Given the description of an element on the screen output the (x, y) to click on. 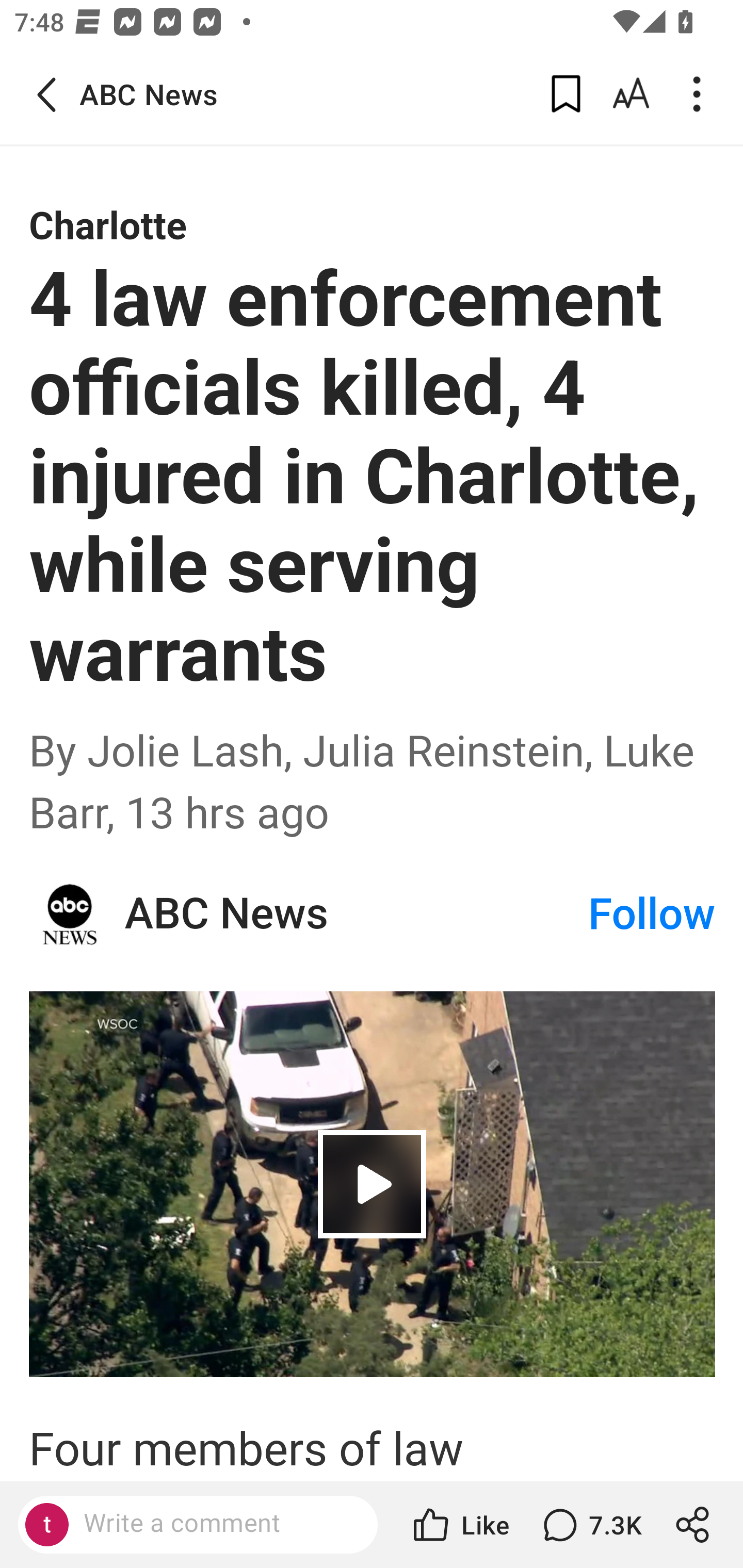
Like (459, 1524)
7.3K (589, 1524)
Write a comment (215, 1523)
